Given the description of an element on the screen output the (x, y) to click on. 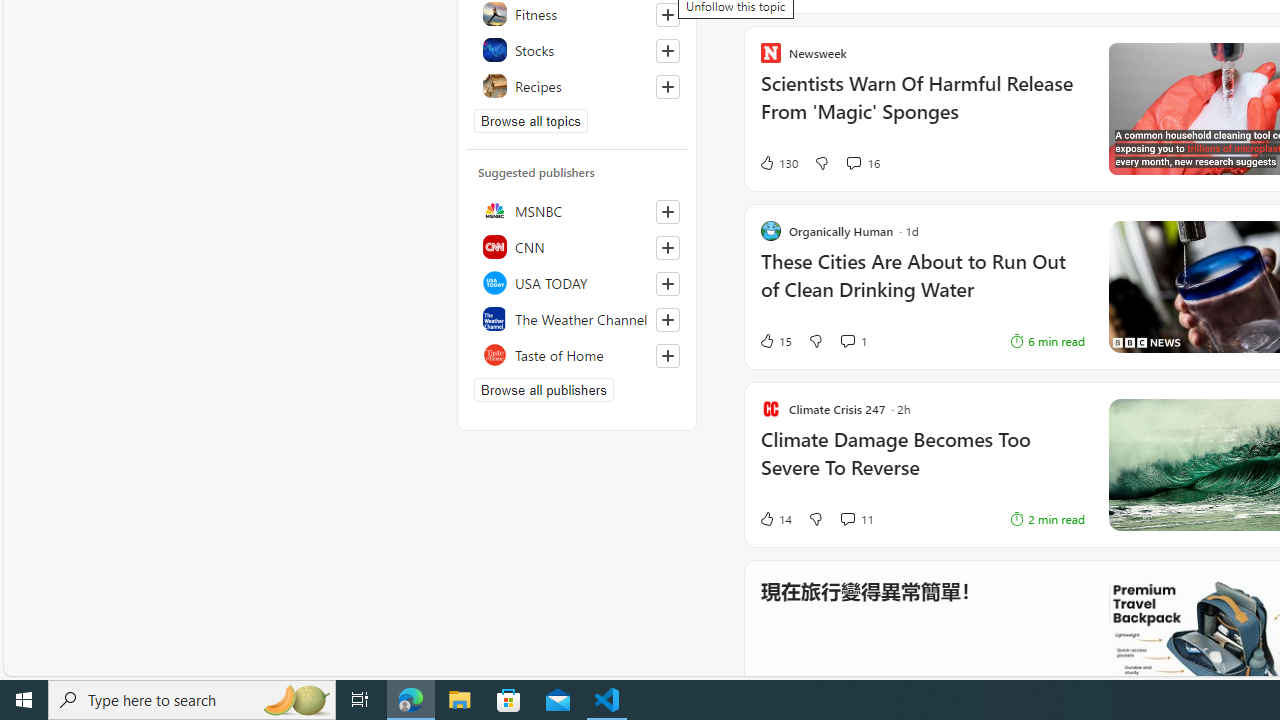
14 Like (775, 518)
Stocks (577, 49)
View comments 11 Comment (855, 518)
Follow this source (667, 355)
View comments 16 Comment (862, 162)
Browse all topics (530, 120)
These Cities Are About to Run Out of Clean Drinking Water (1115, 285)
Recipes (577, 85)
Scientists Warn Of Harmful Release From 'Magic' Sponges (922, 107)
View comments 16 Comment (852, 162)
